Given the description of an element on the screen output the (x, y) to click on. 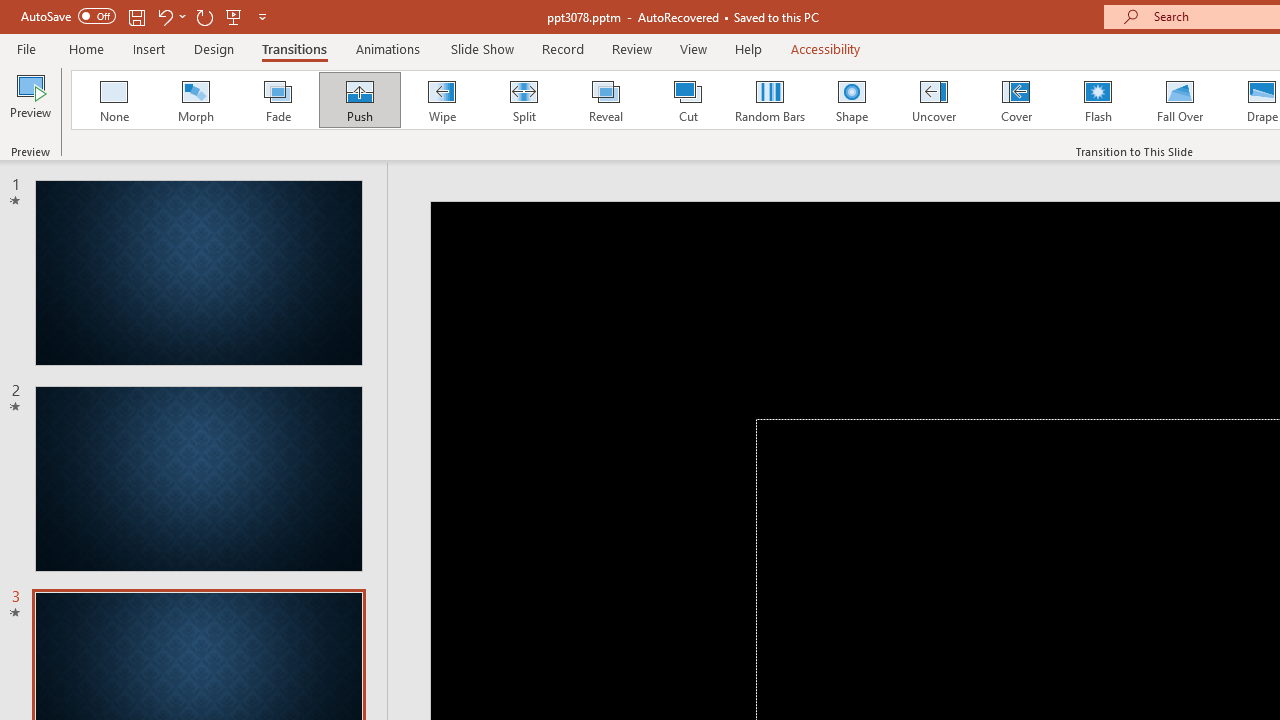
Split (523, 100)
Reveal (605, 100)
Shape (852, 100)
Push (359, 100)
Wipe (441, 100)
